Given the description of an element on the screen output the (x, y) to click on. 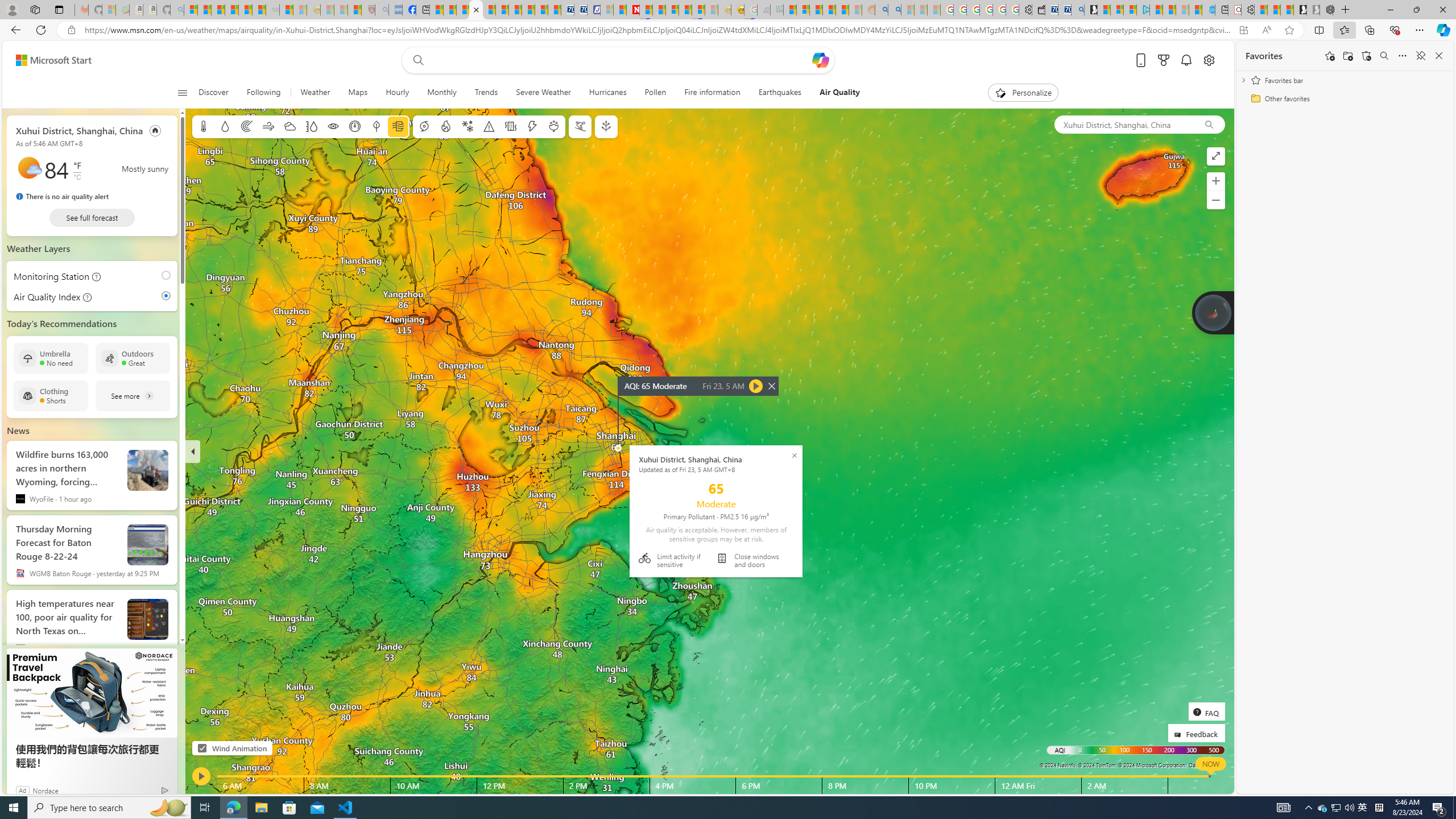
Recipes - MSN - Sleeping (327, 9)
Join us in planting real trees to help our planet! (1213, 312)
See more (133, 395)
Umbrella No need (50, 358)
Local - MSN (354, 9)
Add this page to favorites (1330, 55)
Hurricane (423, 126)
Student Loan Update: Forgiveness Program Ends This Month (842, 9)
Trusted Community Engagement and Contributions | Guidelines (646, 9)
MSNBC - MSN (789, 9)
